Given the description of an element on the screen output the (x, y) to click on. 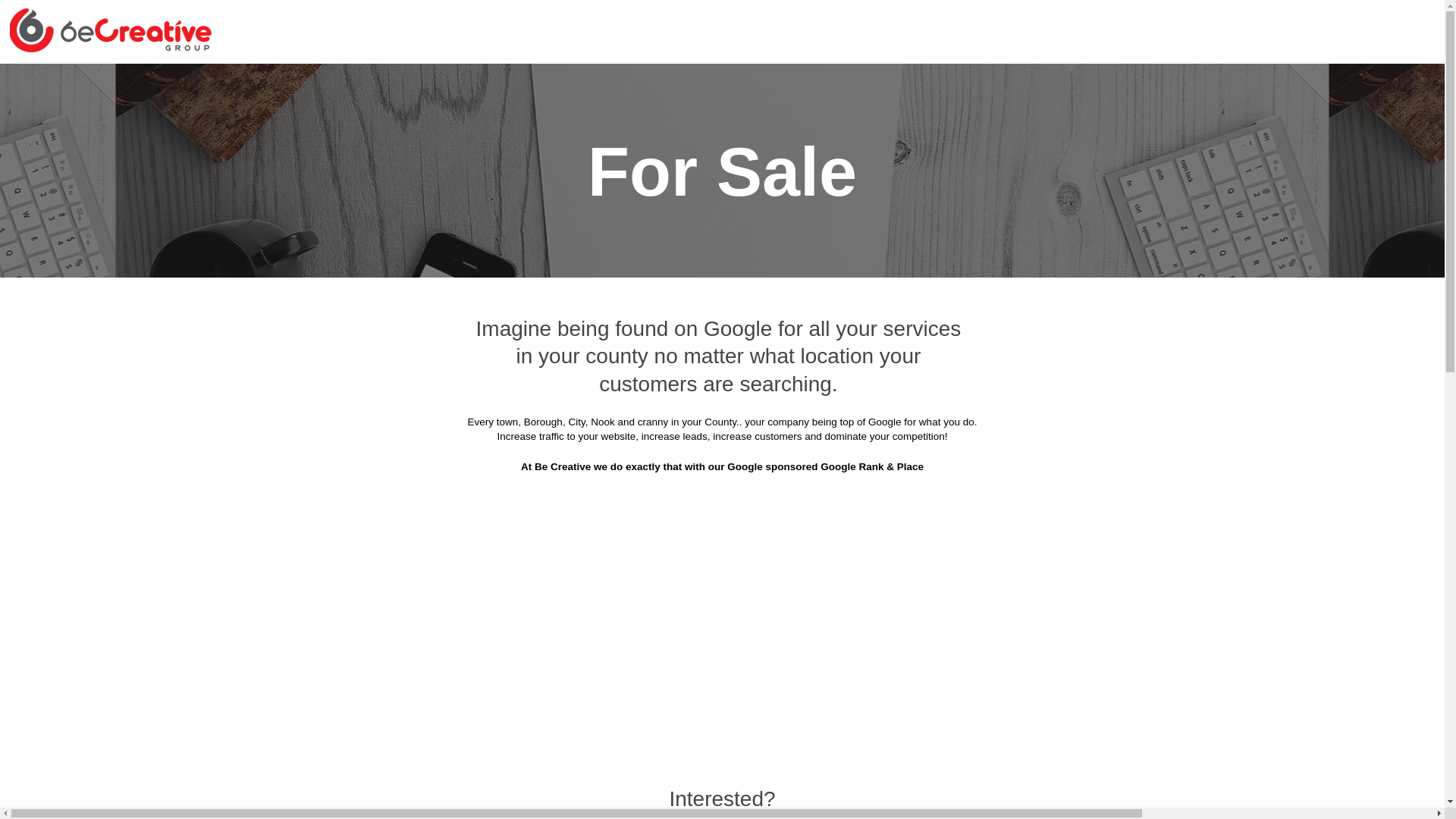
Aggregate Suppliers Holsworthy Devon (1076, 346)
Aggregate Suppliers Axminster Devon (1080, 83)
Aggregate Suppliers Ilfracombe Devon (625, 383)
Aggregate Suppliers Cornwall (488, 83)
Aggregate Suppliers Kingsteignton Devon (388, 422)
Aggregate Suppliers Bovey Tracey Devon (1070, 121)
Aggregate Suppliers Chulmleigh Devon (850, 234)
Aggregate Suppliers Bideford Devon (617, 121)
Aggregate Suppliers Barnstaple Devon (395, 121)
Aggregate Suppliers Camborne Cornwall (1072, 196)
Aggregate Suppliers Launceston Cornwall (632, 422)
Aggregate Suppliers Falmouth Cornwall (600, 309)
Aggregate Suppliers Chudleigh Devon (622, 234)
Aggregate Suppliers Bodmin Cornwall (837, 121)
Aggregate Suppliers Exmouth Devon (1083, 271)
